Given the description of an element on the screen output the (x, y) to click on. 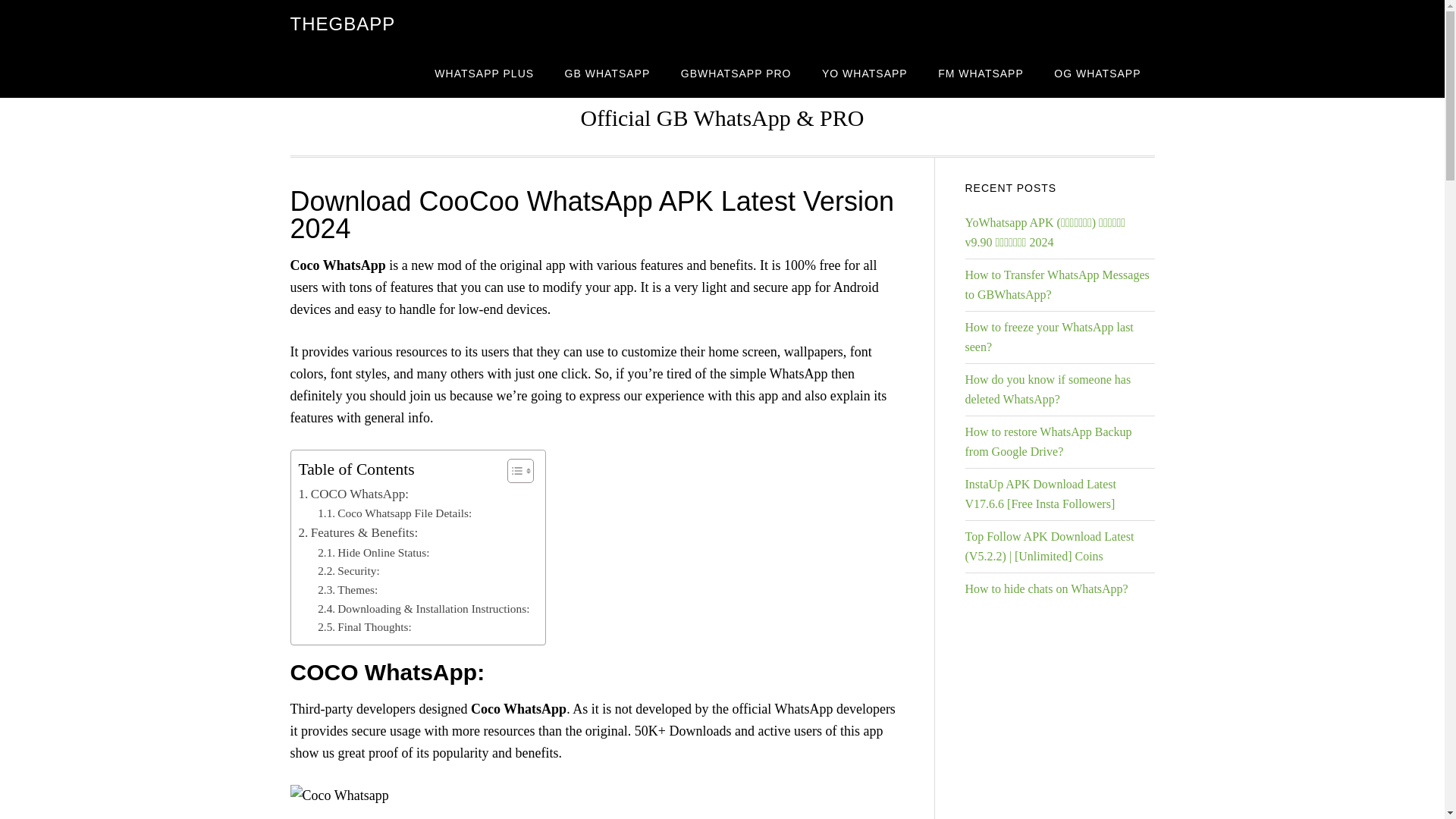
YO WHATSAPP (864, 72)
THEGBAPP (341, 23)
How to Transfer WhatsApp Messages to GBWhatsApp? (1055, 284)
WHATSAPP PLUS (483, 72)
Coco Whatsapp File Details: (394, 513)
How to restore WhatsApp Backup from Google Drive? (1047, 441)
Hide Online Status: (373, 552)
Final Thoughts: (364, 627)
FM WHATSAPP (980, 72)
How do you know if someone has deleted WhatsApp? (1047, 389)
GBWHATSAPP PRO (735, 72)
Hide Online Status: (373, 552)
Security: (348, 570)
Coco Whatsapp File Details: (394, 513)
